Given the description of an element on the screen output the (x, y) to click on. 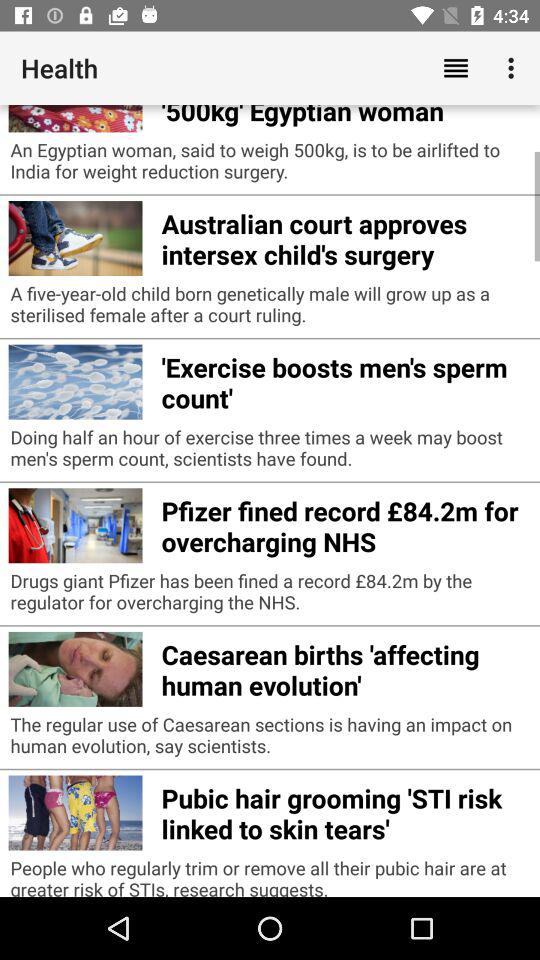
click the doing half an item (270, 452)
